Given the description of an element on the screen output the (x, y) to click on. 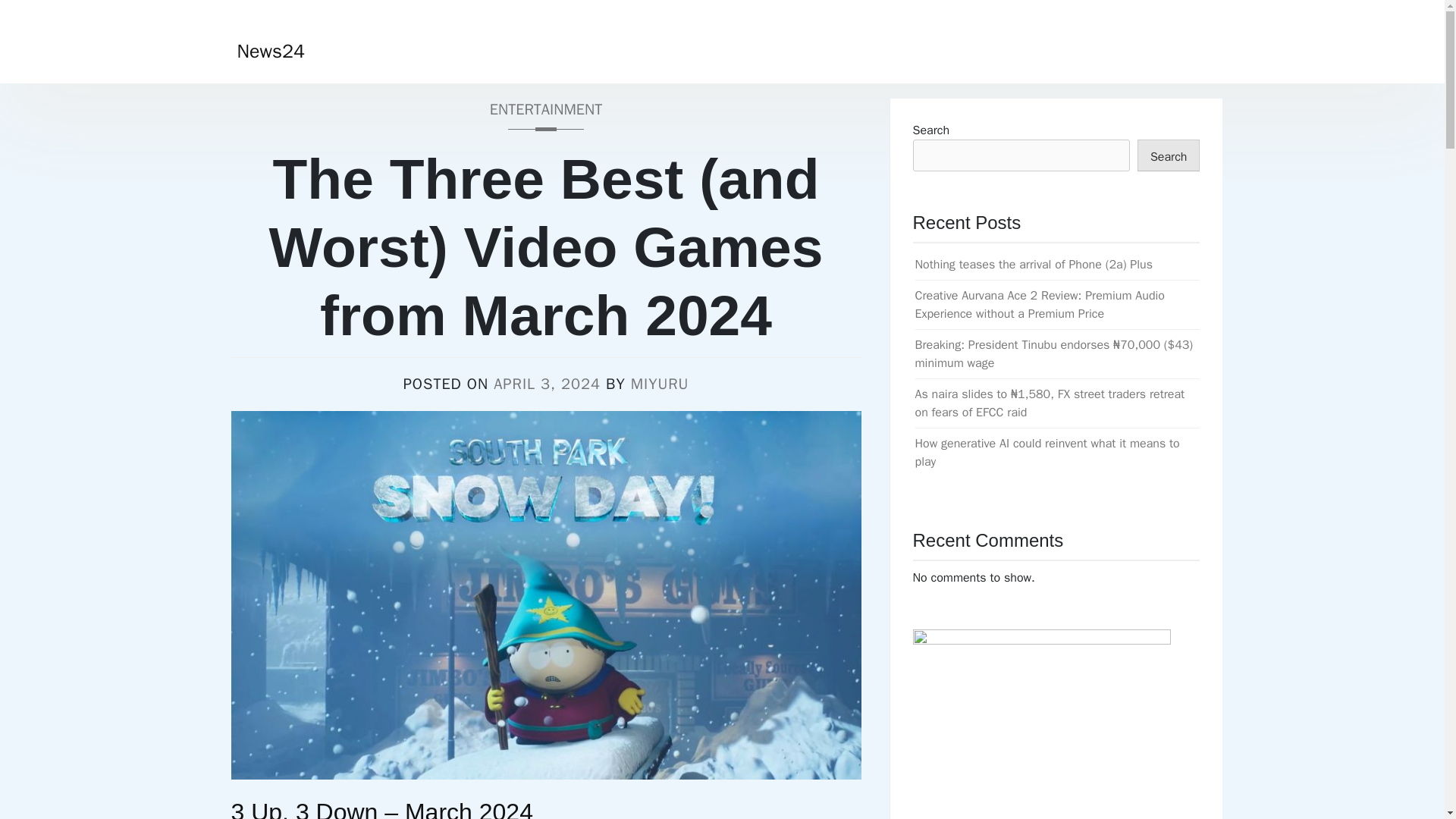
APRIL 3, 2024 (546, 383)
News24 (269, 51)
Search (31, 12)
ENTERTAINMENT (545, 114)
MIYURU (659, 383)
How generative AI could reinvent what it means to play (1046, 452)
Search (1168, 155)
